Given the description of an element on the screen output the (x, y) to click on. 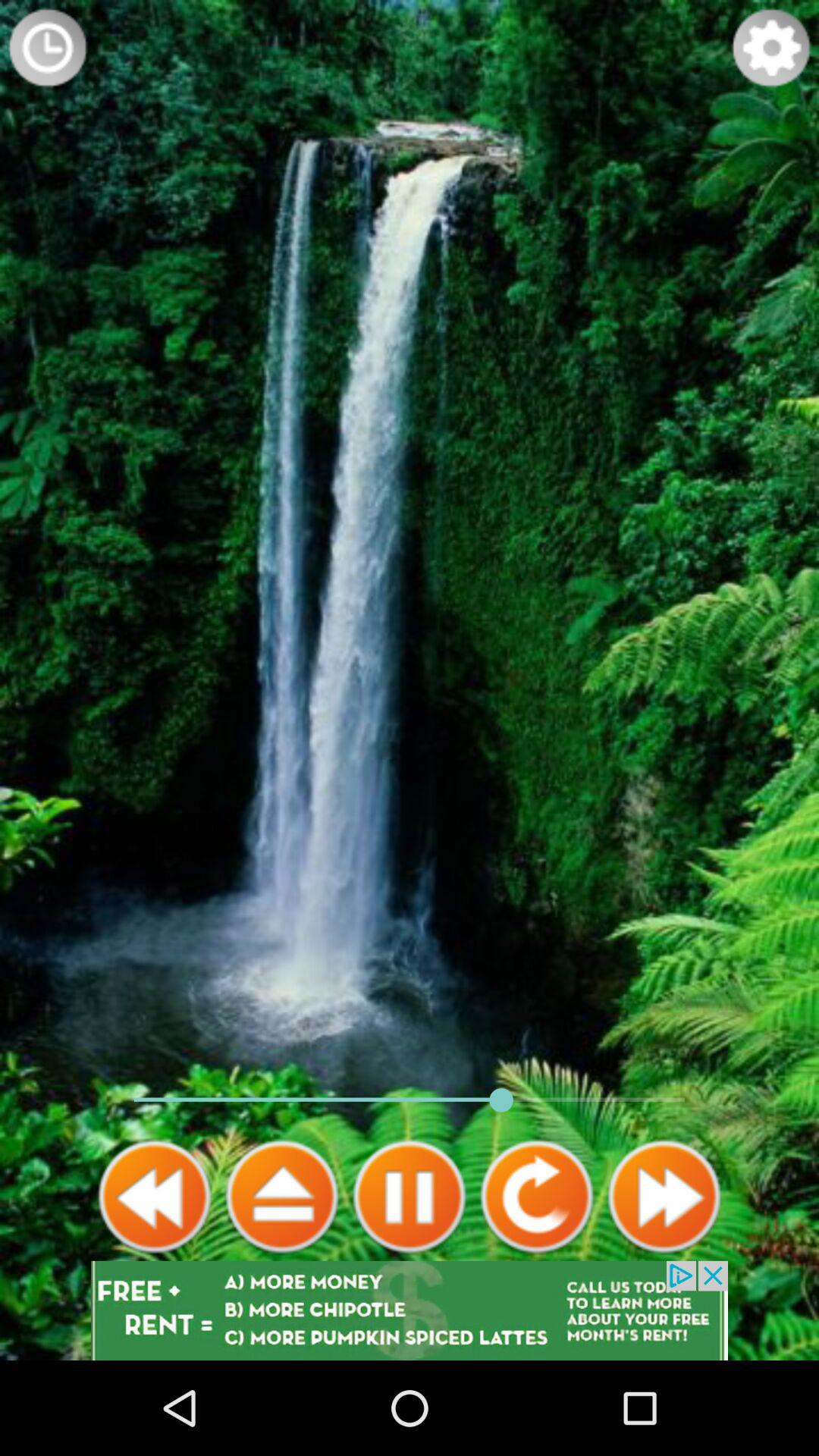
pause (409, 1196)
